Given the description of an element on the screen output the (x, y) to click on. 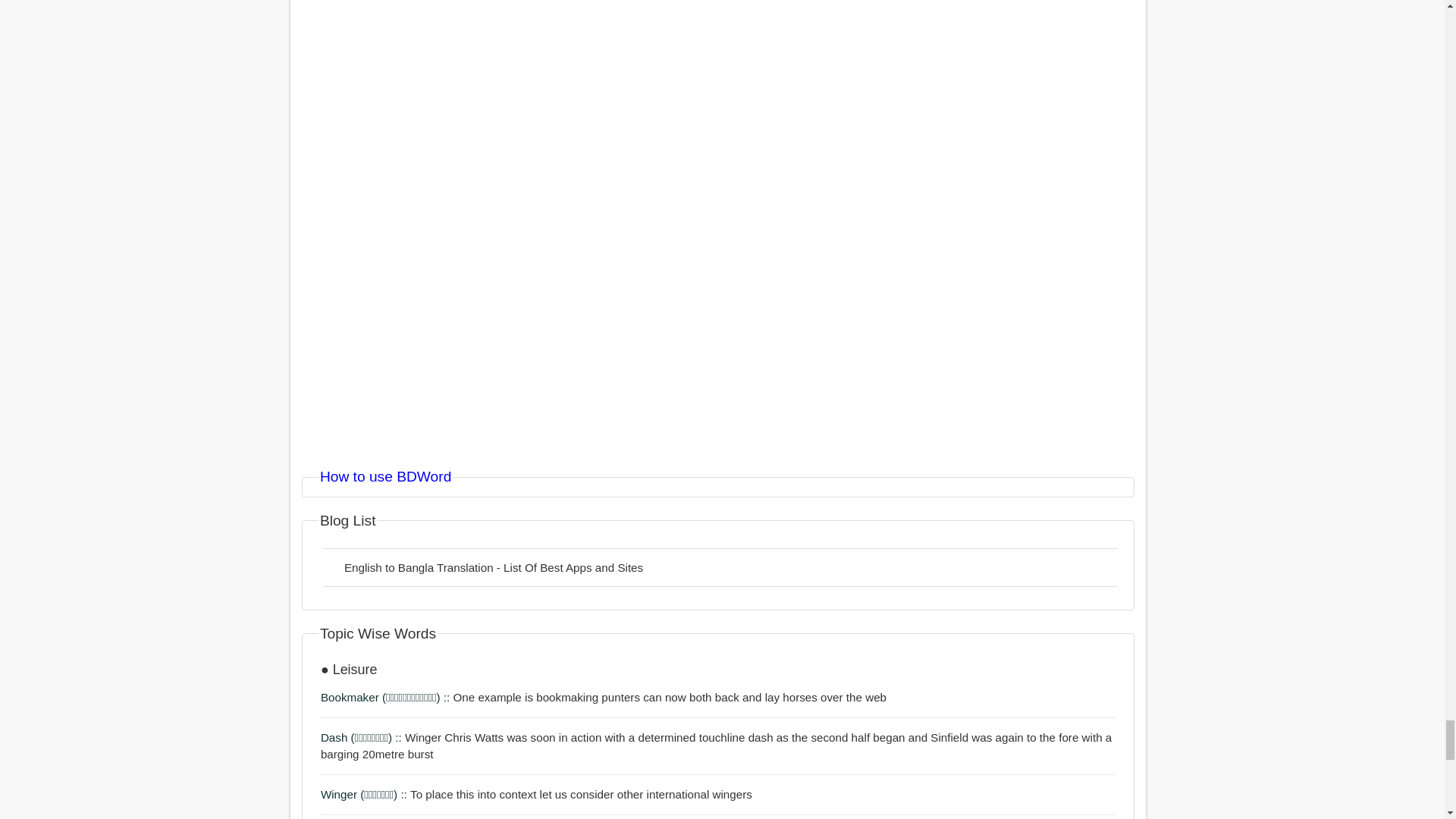
How to use BDWord (385, 476)
English to Bangla Translation - List Of Best Apps and Sites (720, 567)
